Given the description of an element on the screen output the (x, y) to click on. 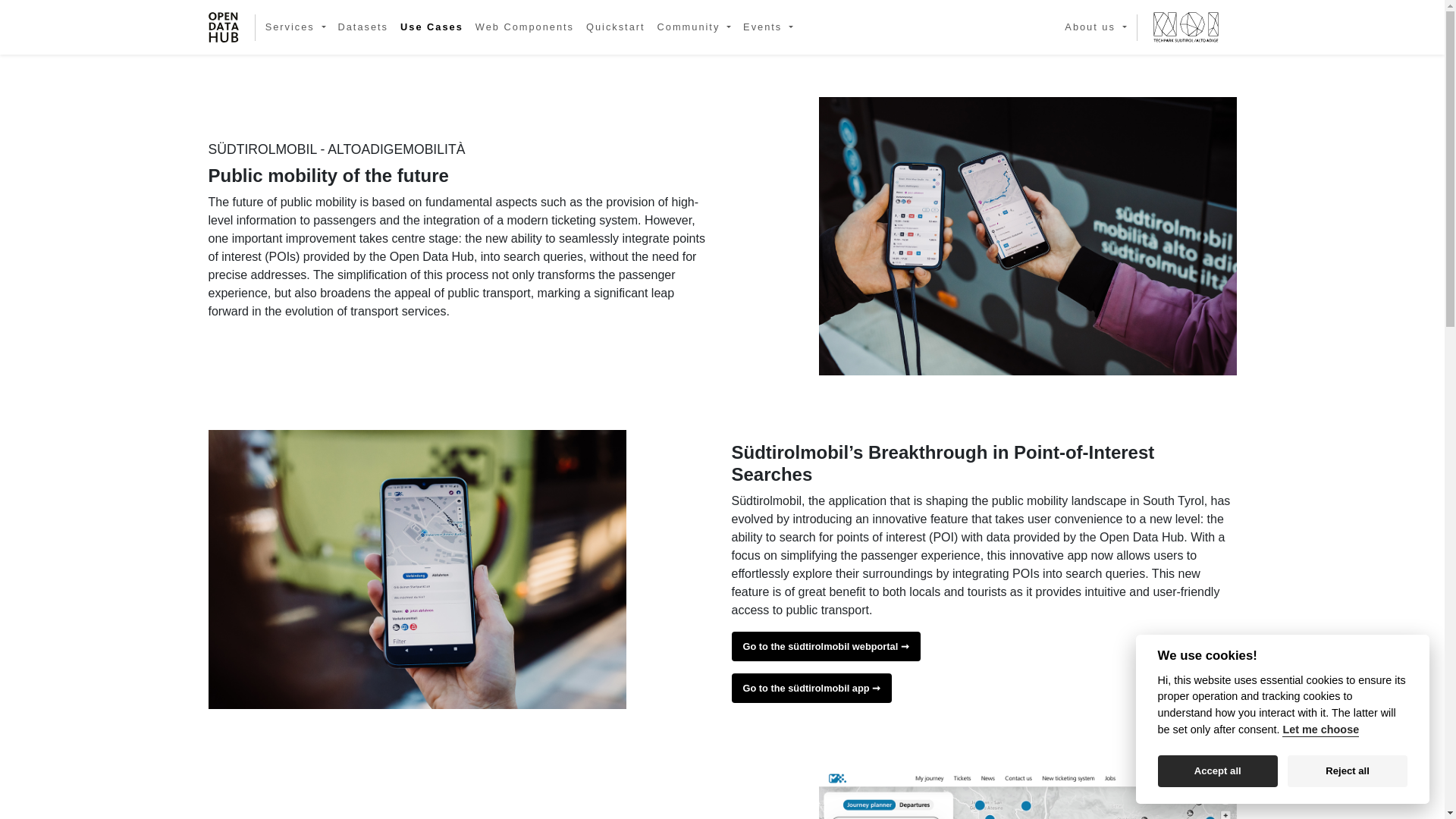
About us (1095, 26)
Community (694, 26)
Web Components (523, 26)
Use Cases (431, 26)
Quickstart (614, 26)
Services (295, 26)
Datasets (362, 26)
Events (767, 26)
